Given the description of an element on the screen output the (x, y) to click on. 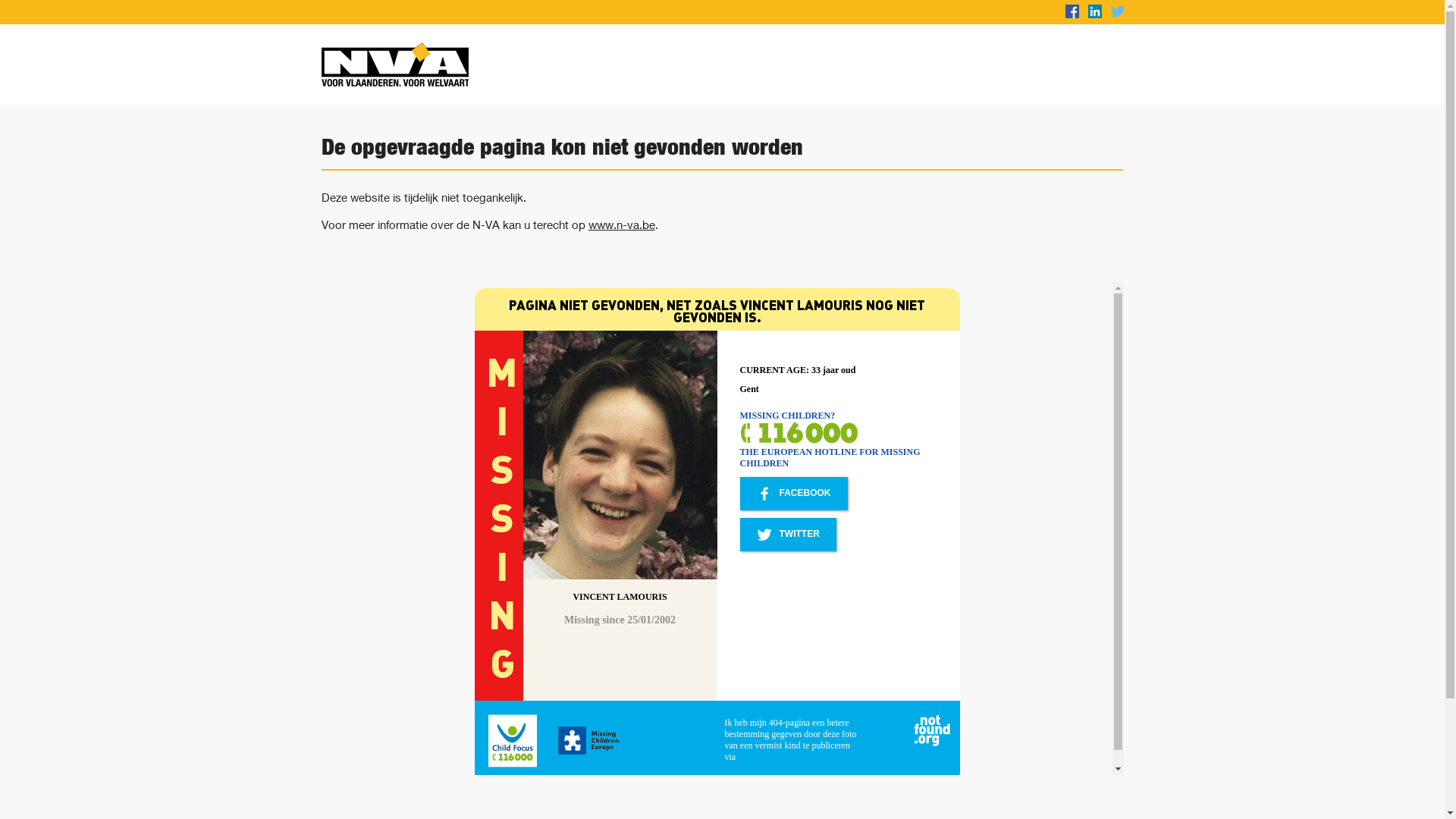
Home Element type: hover (516, 64)
www.n-va.be Element type: text (621, 223)
